Given the description of an element on the screen output the (x, y) to click on. 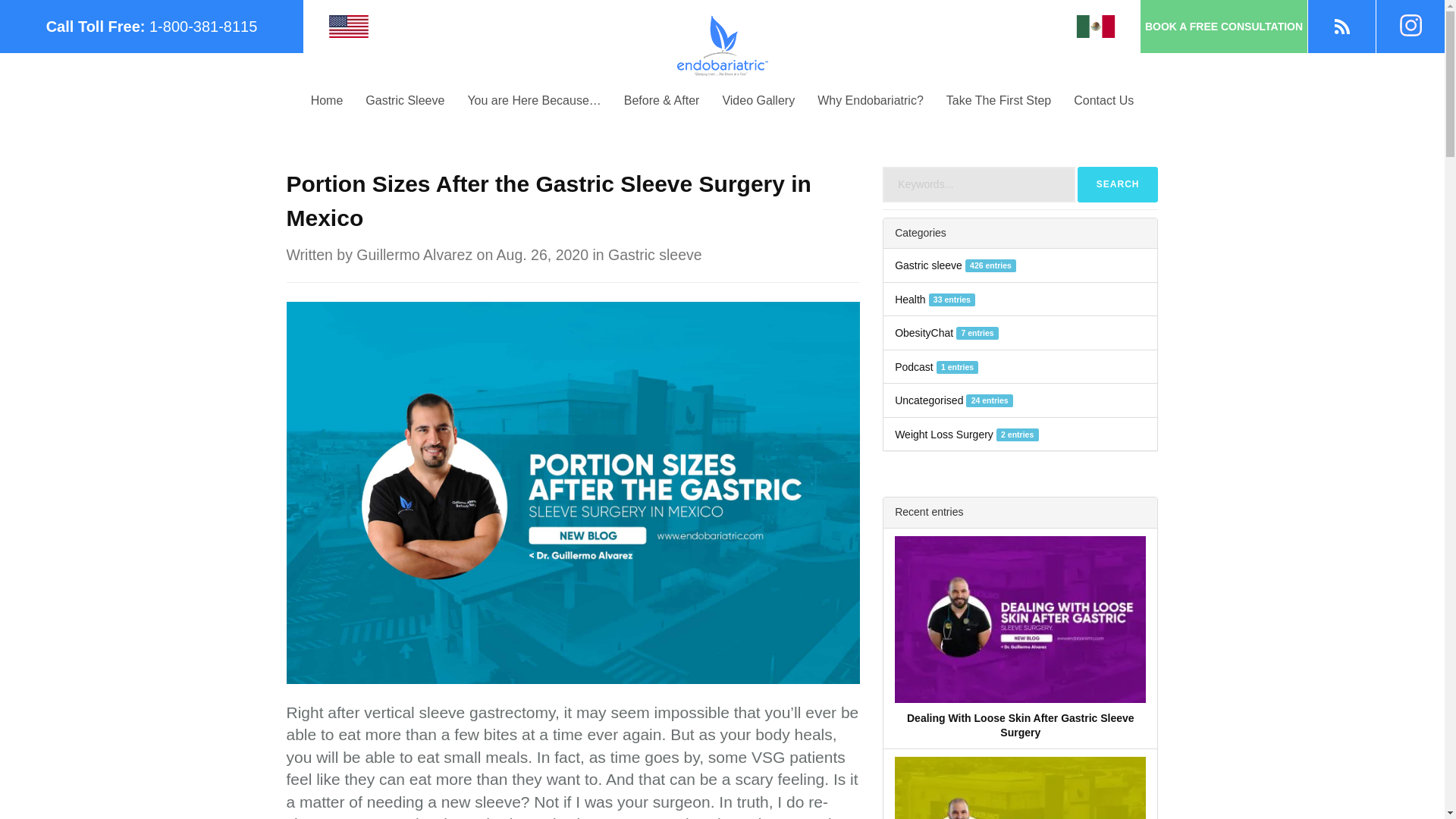
Portion Sizes After the Gastric Sleeve Surgery in Mexico (573, 491)
English (348, 26)
Video Gallery (758, 100)
Why Endobariatric? (870, 100)
1-800-381-8115 (203, 26)
Home (327, 100)
BOOK A FREE CONSULTATION (1223, 26)
Gastric Sleeve (404, 100)
